Given the description of an element on the screen output the (x, y) to click on. 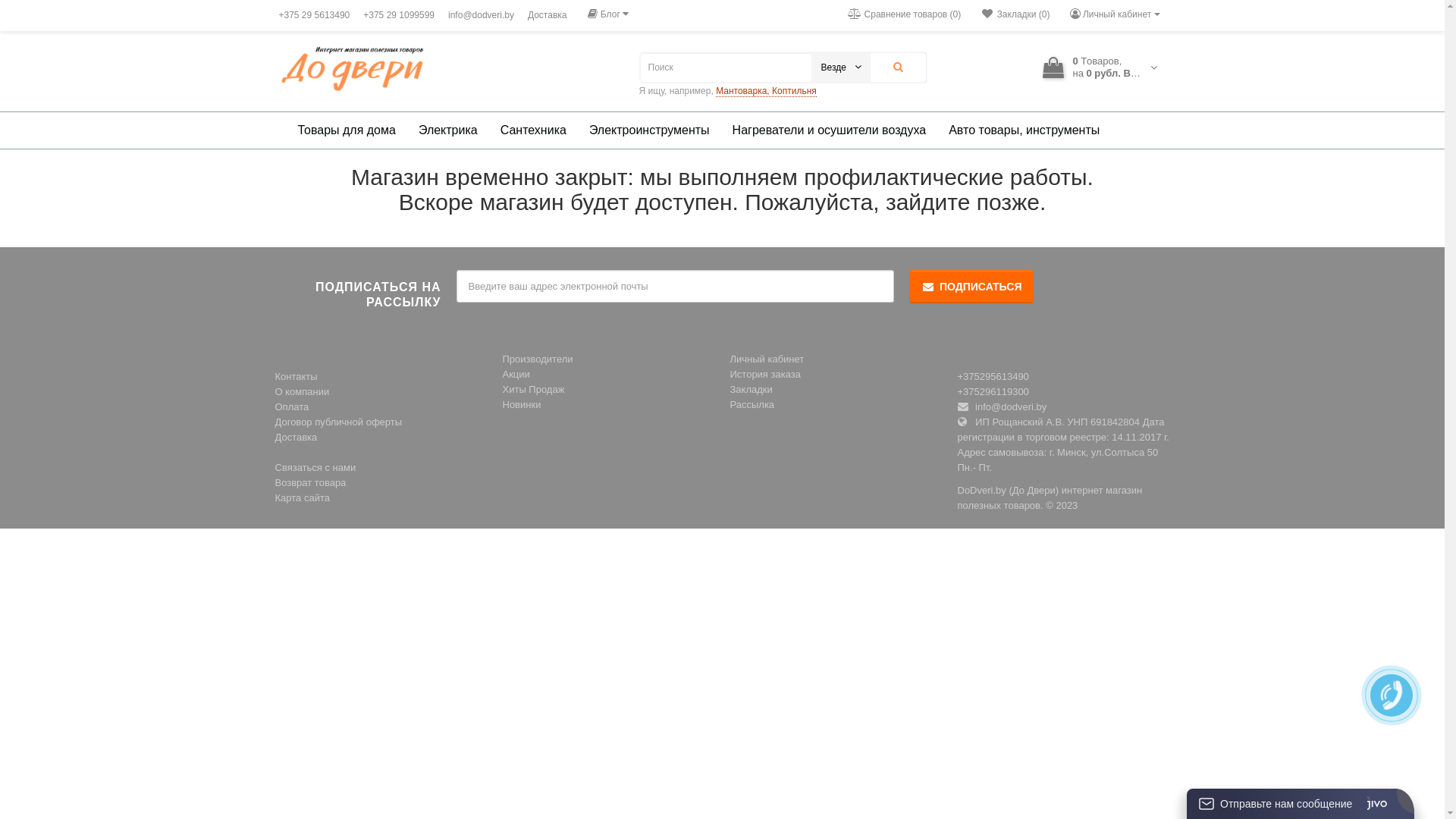
+375 29 1099599 Element type: text (398, 15)
+375 29 5613490 Element type: text (314, 15)
info@dodveri.by Element type: text (481, 15)
